Given the description of an element on the screen output the (x, y) to click on. 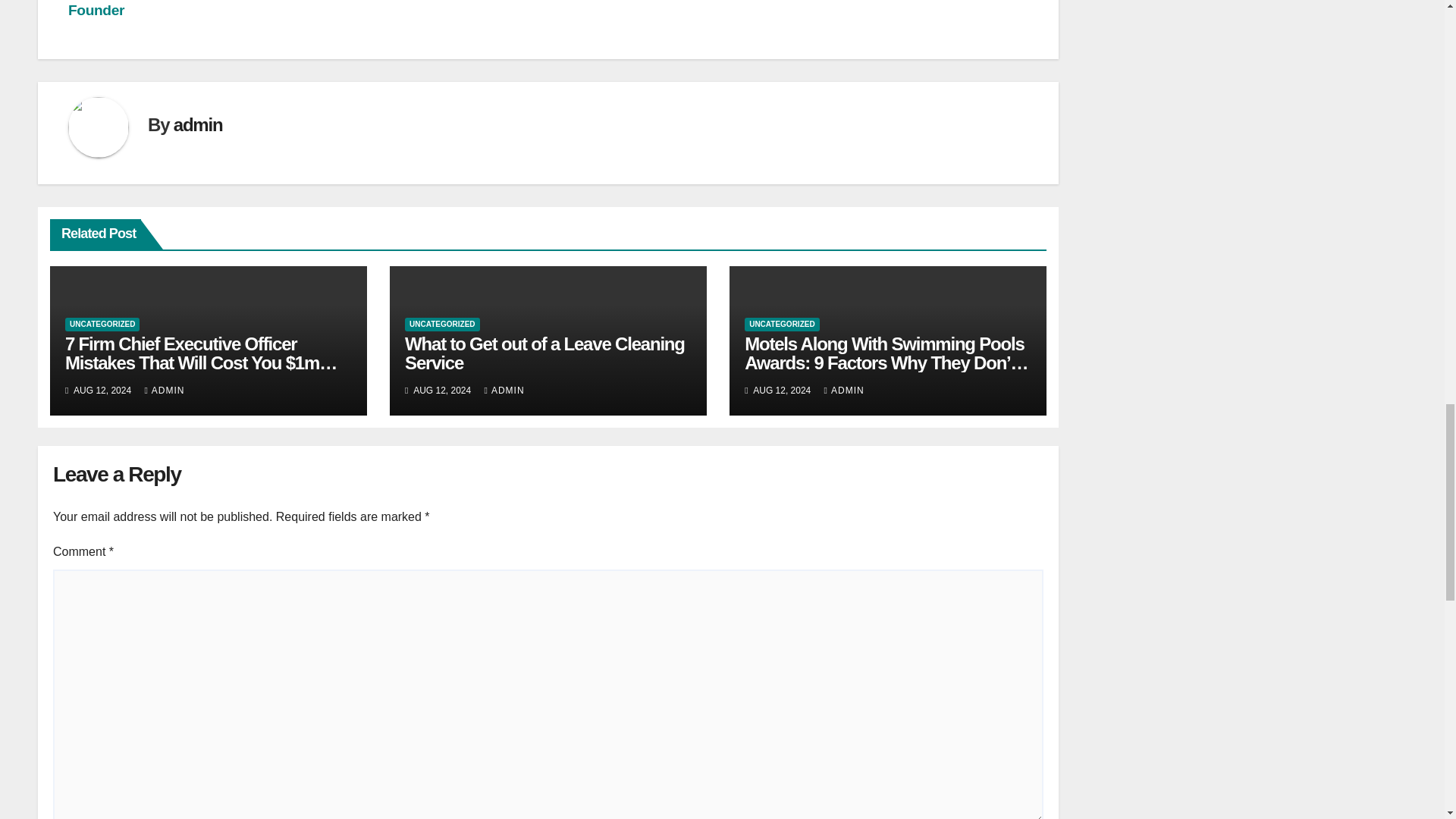
What to Get out of a Leave Cleaning Service (544, 353)
ADMIN (844, 389)
UNCATEGORIZED (781, 324)
Permalink to: What to Get out of a Leave Cleaning Service (544, 353)
UNCATEGORIZED (102, 324)
admin (197, 124)
UNCATEGORIZED (441, 324)
ADMIN (164, 389)
ADMIN (504, 389)
